Given the description of an element on the screen output the (x, y) to click on. 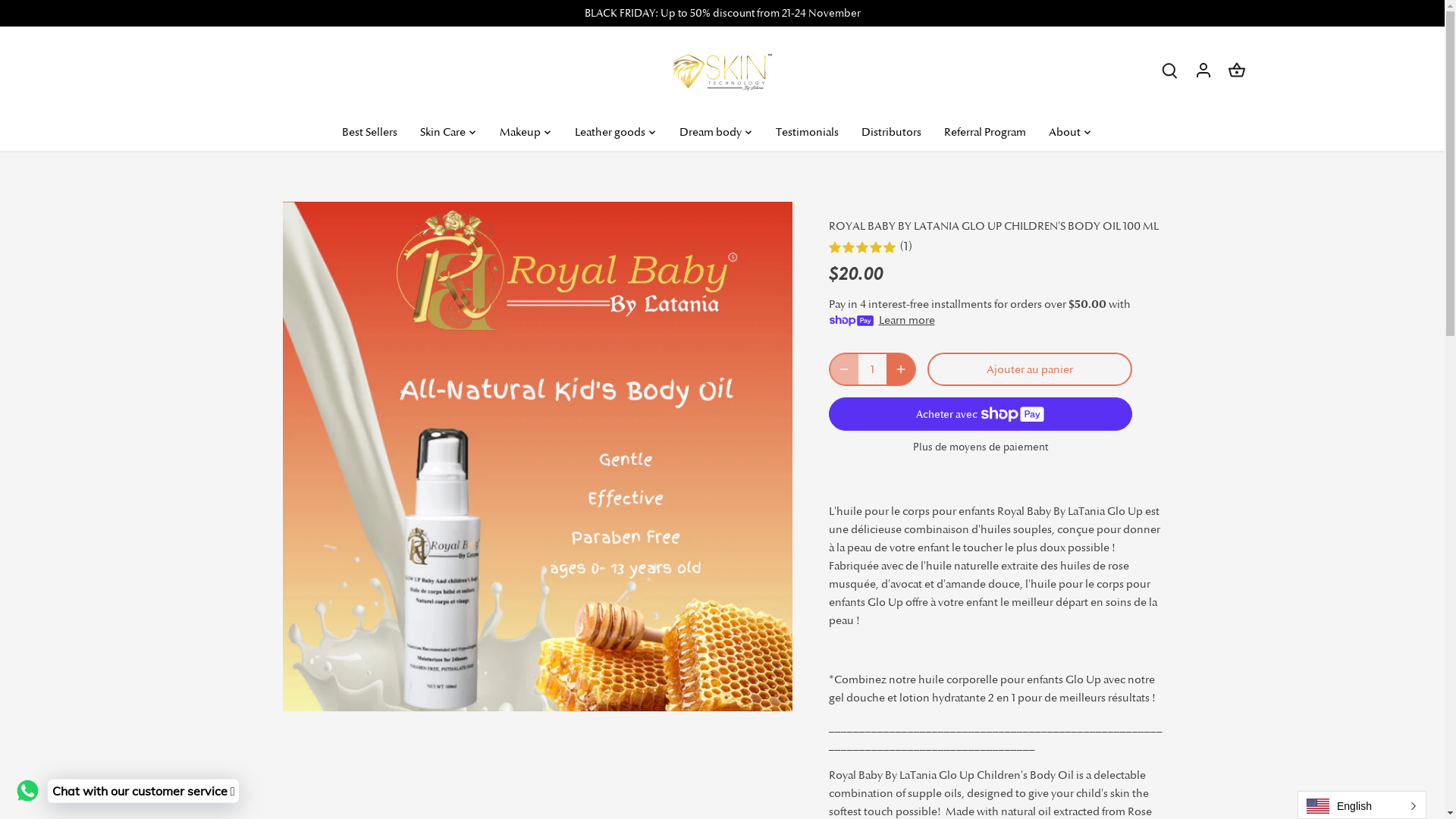
Distributors Element type: text (890, 131)
Leather goods Element type: text (608, 131)
Skin Care Element type: text (441, 131)
About Element type: text (1064, 131)
Referral Program Element type: text (984, 131)
Testimonials Element type: text (807, 131)
Dream body Element type: text (709, 131)
Plus de moyens de paiement Element type: text (979, 446)
 (1) Element type: text (994, 247)
Makeup Element type: text (520, 131)
Aller au panier Element type: hover (1236, 70)
Ajouter au panier Element type: text (1028, 368)
Best Sellers Element type: text (374, 131)
